Given the description of an element on the screen output the (x, y) to click on. 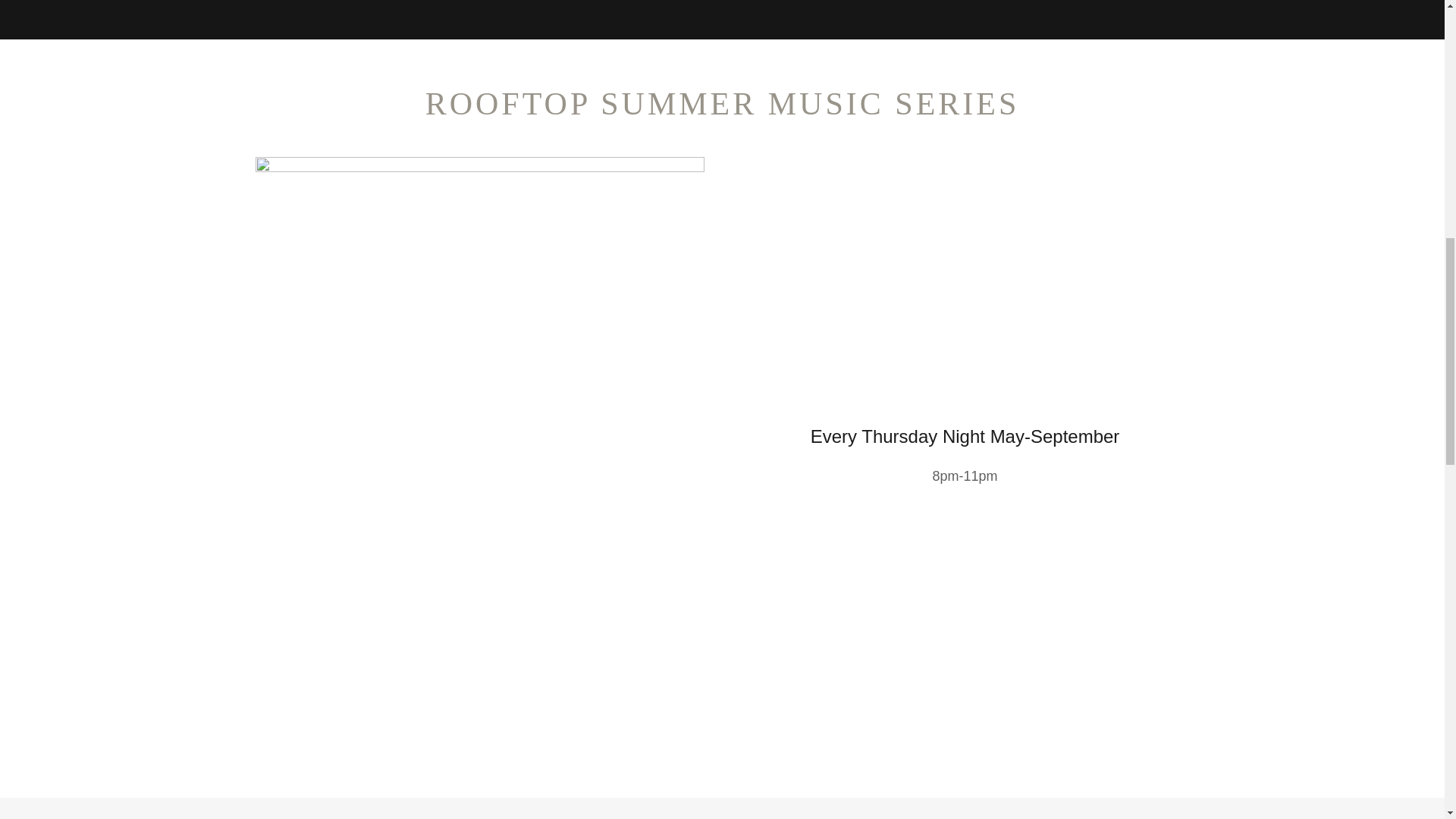
ACCEPT (1274, 324)
